Given the description of an element on the screen output the (x, y) to click on. 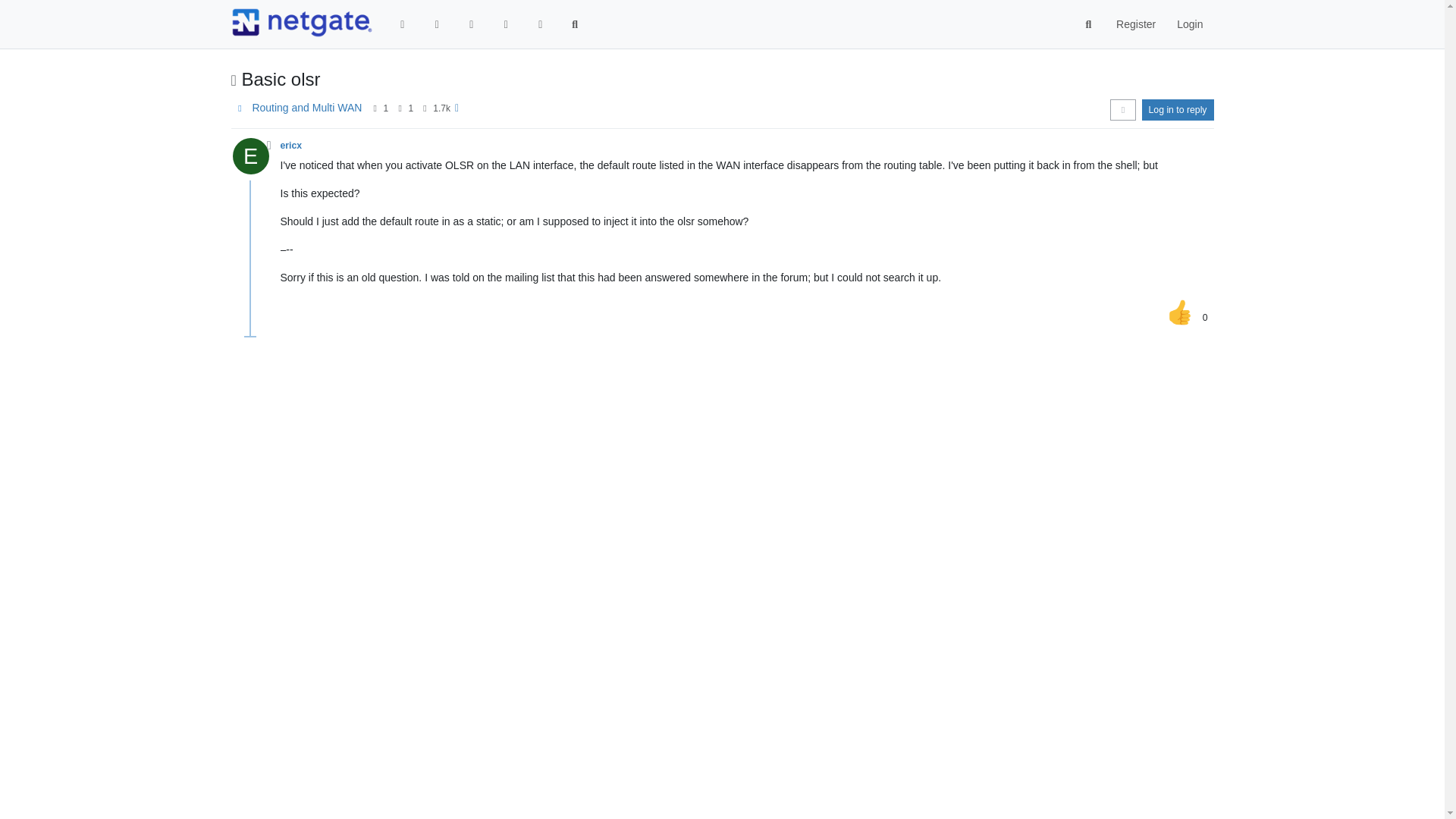
Views (424, 108)
Search (574, 24)
Categories (402, 24)
Routing and Multi WAN (306, 107)
Popular (504, 24)
1687 (440, 108)
Register (1135, 24)
Posters (374, 108)
Users (539, 24)
Search (1088, 24)
